Given the description of an element on the screen output the (x, y) to click on. 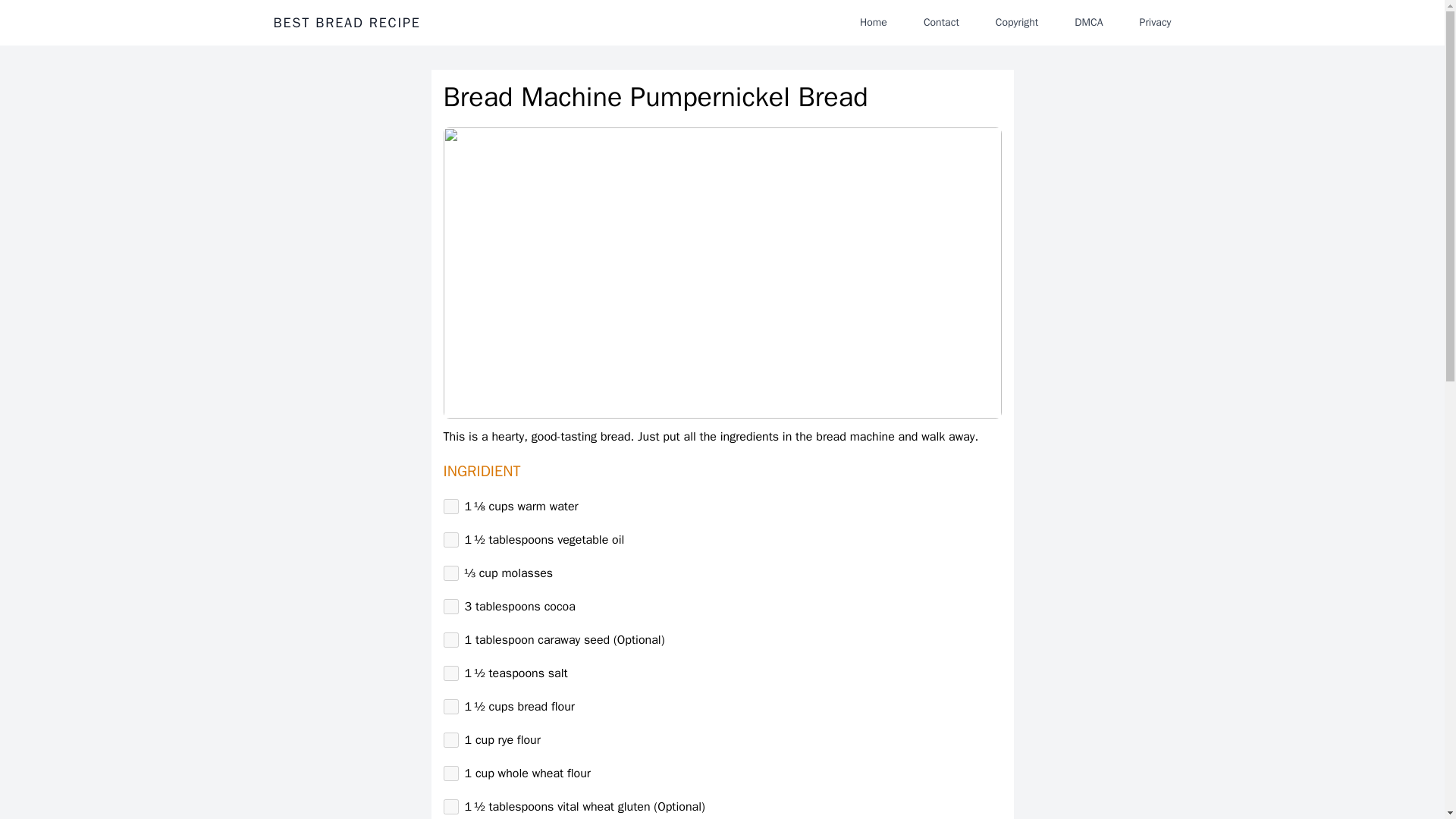
on (450, 739)
on (450, 672)
Copyright (1016, 22)
Privacy (1154, 22)
BEST BREAD RECIPE (346, 22)
DMCA (1088, 22)
on (450, 639)
on (450, 606)
on (450, 773)
on (450, 539)
Home (873, 22)
on (450, 706)
on (450, 506)
Contact (941, 22)
on (450, 572)
